Given the description of an element on the screen output the (x, y) to click on. 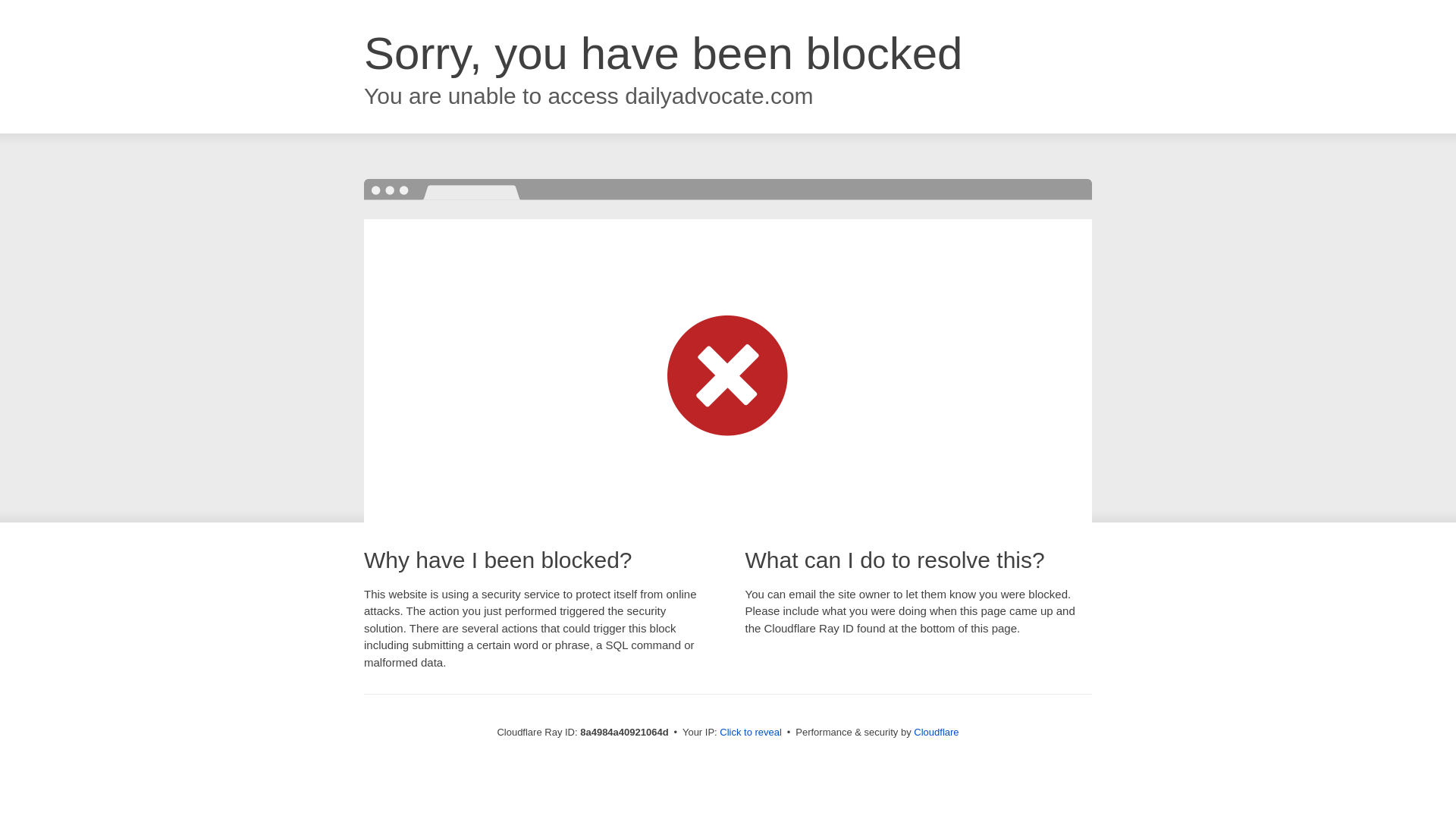
Click to reveal (750, 732)
Cloudflare (936, 731)
